Given the description of an element on the screen output the (x, y) to click on. 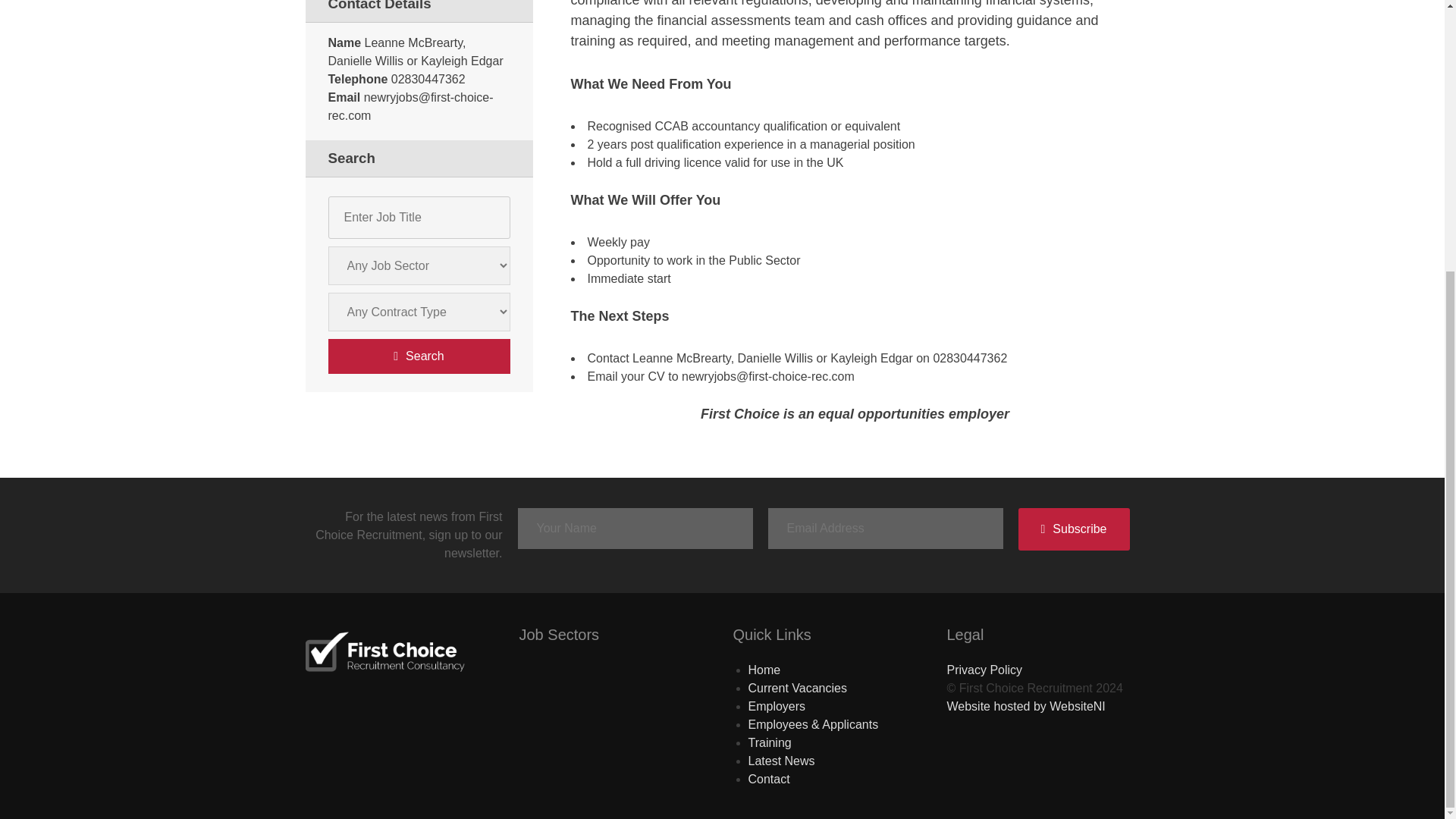
Latest News (780, 760)
Contact (768, 779)
Subscribe (1073, 528)
Training (769, 742)
Hosted by WebsiteNI (1025, 706)
Employers (776, 706)
Website hosted by WebsiteNI (1025, 706)
Home (764, 669)
Current Vacancies (796, 687)
Search (418, 356)
